Given the description of an element on the screen output the (x, y) to click on. 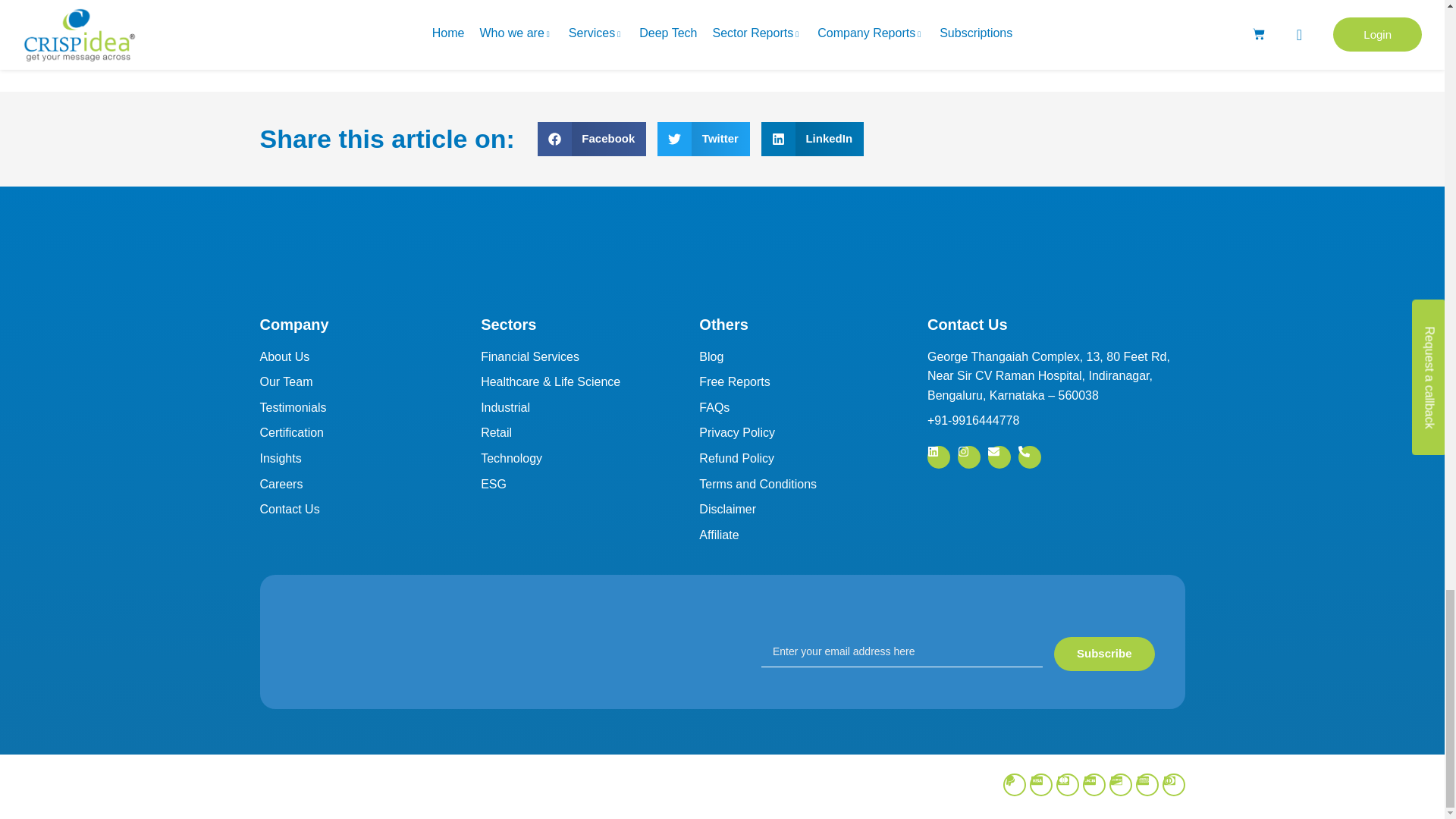
Subscribe (1104, 653)
